Given the description of an element on the screen output the (x, y) to click on. 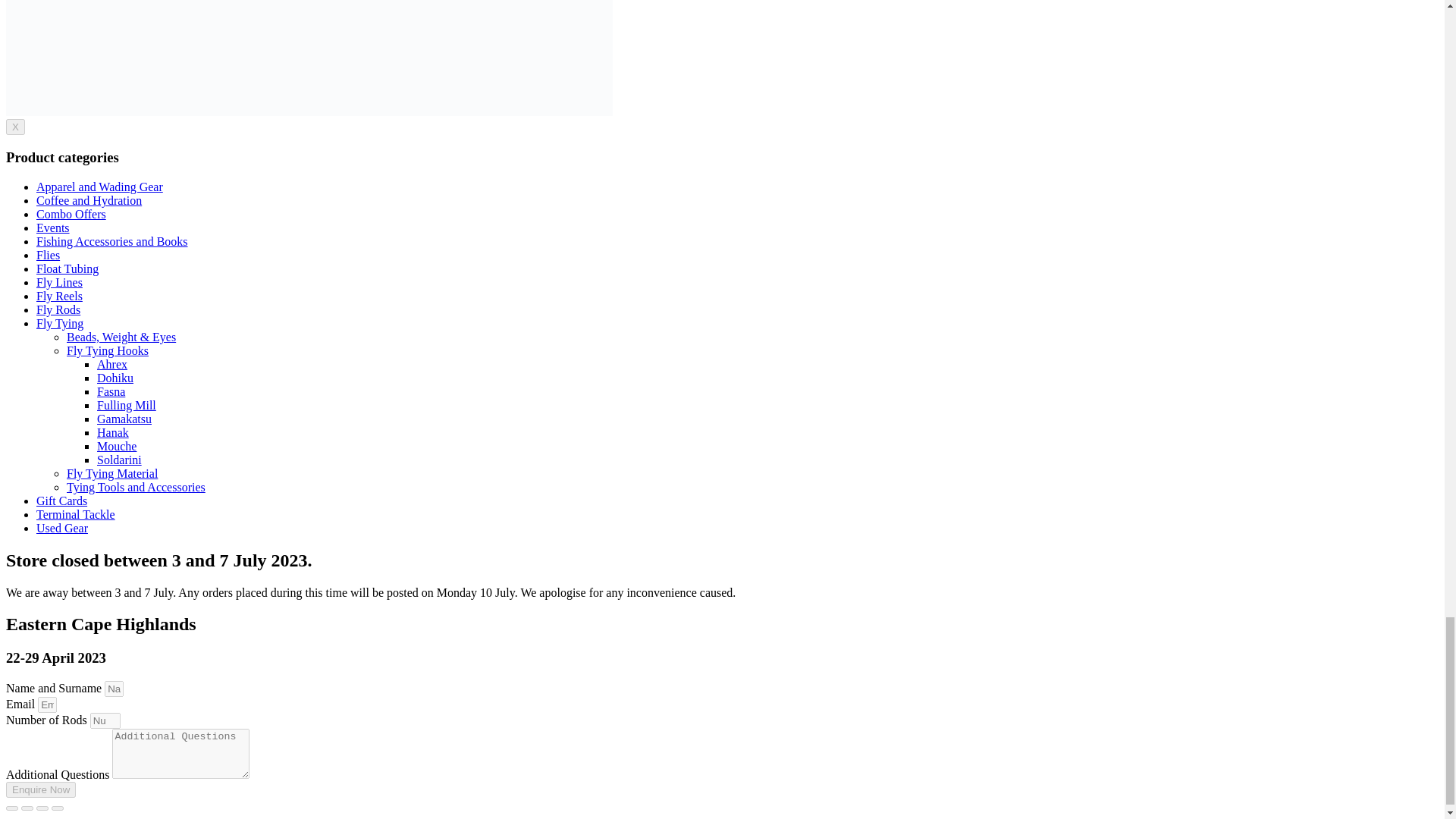
Apparel and Wading Gear (99, 186)
Events (52, 227)
Coffee and Hydration (88, 200)
Combo Offers (71, 214)
X (14, 126)
